Given the description of an element on the screen output the (x, y) to click on. 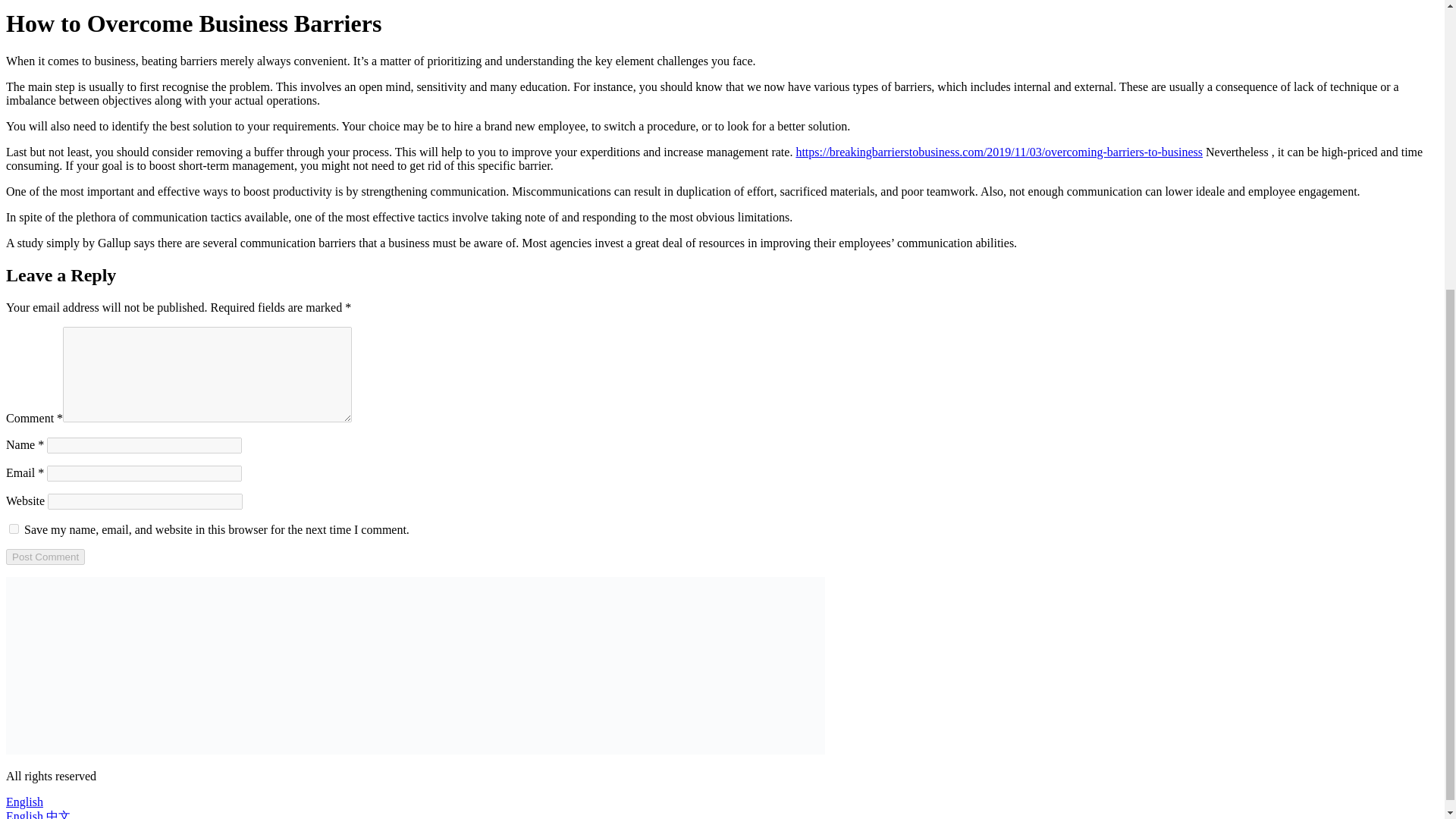
Post Comment (44, 556)
English (24, 801)
yes (13, 528)
Post Comment (44, 556)
